Given the description of an element on the screen output the (x, y) to click on. 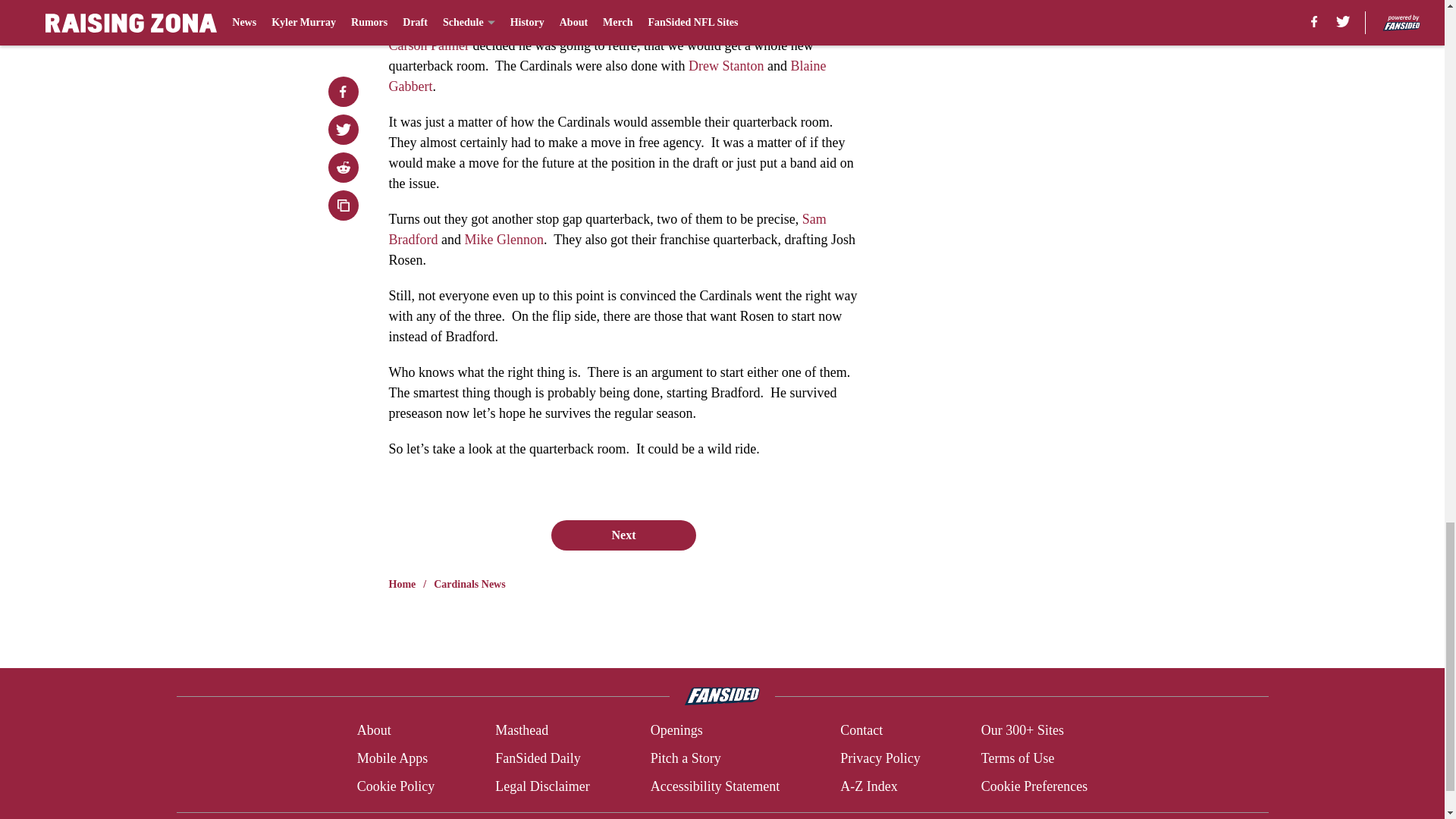
Carson Palmer (428, 45)
Home (401, 584)
Drew Stanton (725, 65)
Contact (861, 730)
Pitch a Story (685, 758)
Mike Glennon (503, 239)
Sam Bradford (606, 229)
About (373, 730)
Openings (676, 730)
Next (622, 535)
Mobile Apps (392, 758)
FanSided Daily (537, 758)
Cardinals News (469, 584)
Blaine Gabbert (606, 76)
Masthead (521, 730)
